Given the description of an element on the screen output the (x, y) to click on. 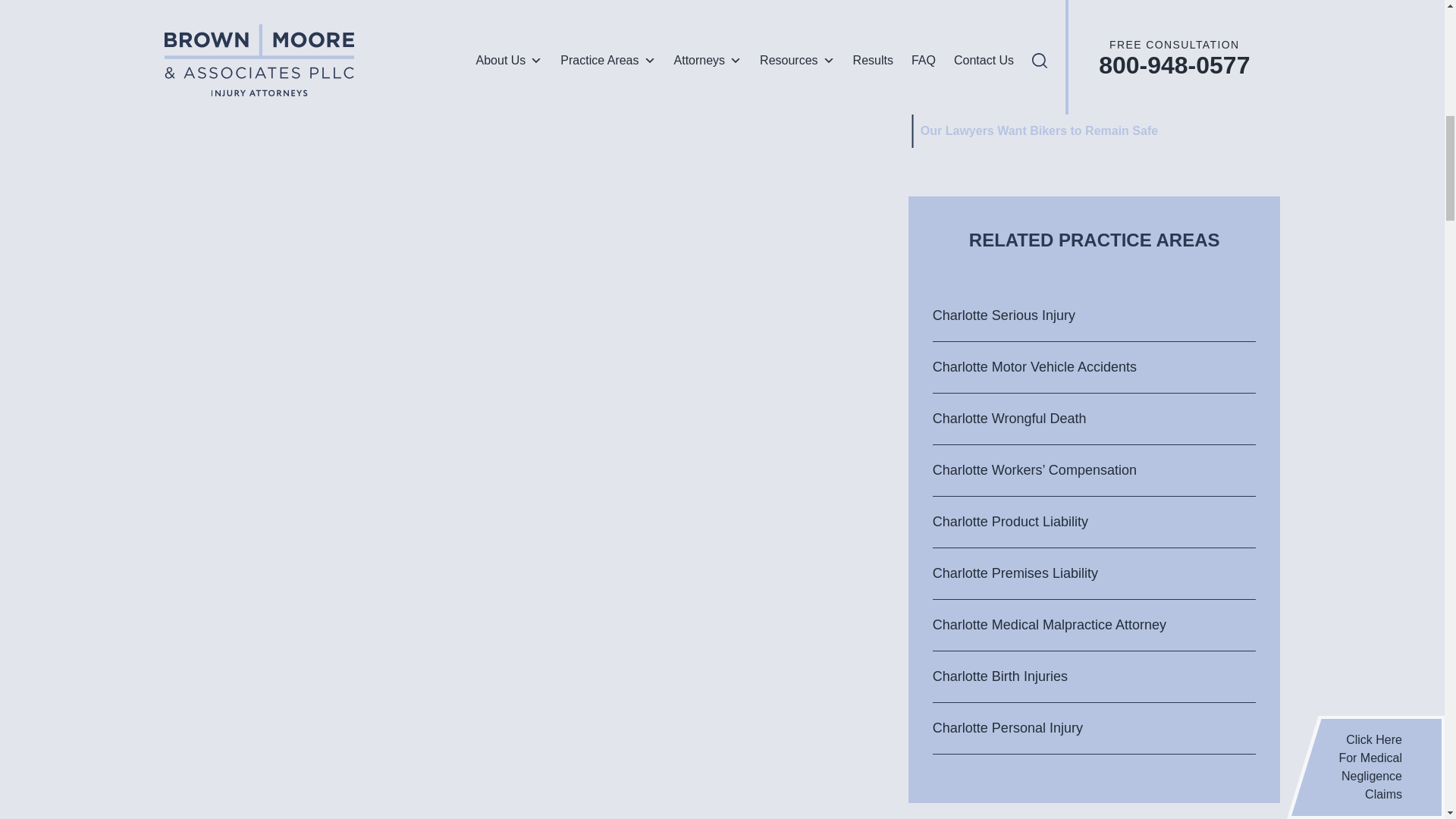
Helmets Do Not Protect Against Other Types of Injuries (1079, 97)
Statistics Show that Helmets Make a Difference (1056, 64)
Our Lawyers Want Bikers to Remain Safe (1038, 131)
